Given the description of an element on the screen output the (x, y) to click on. 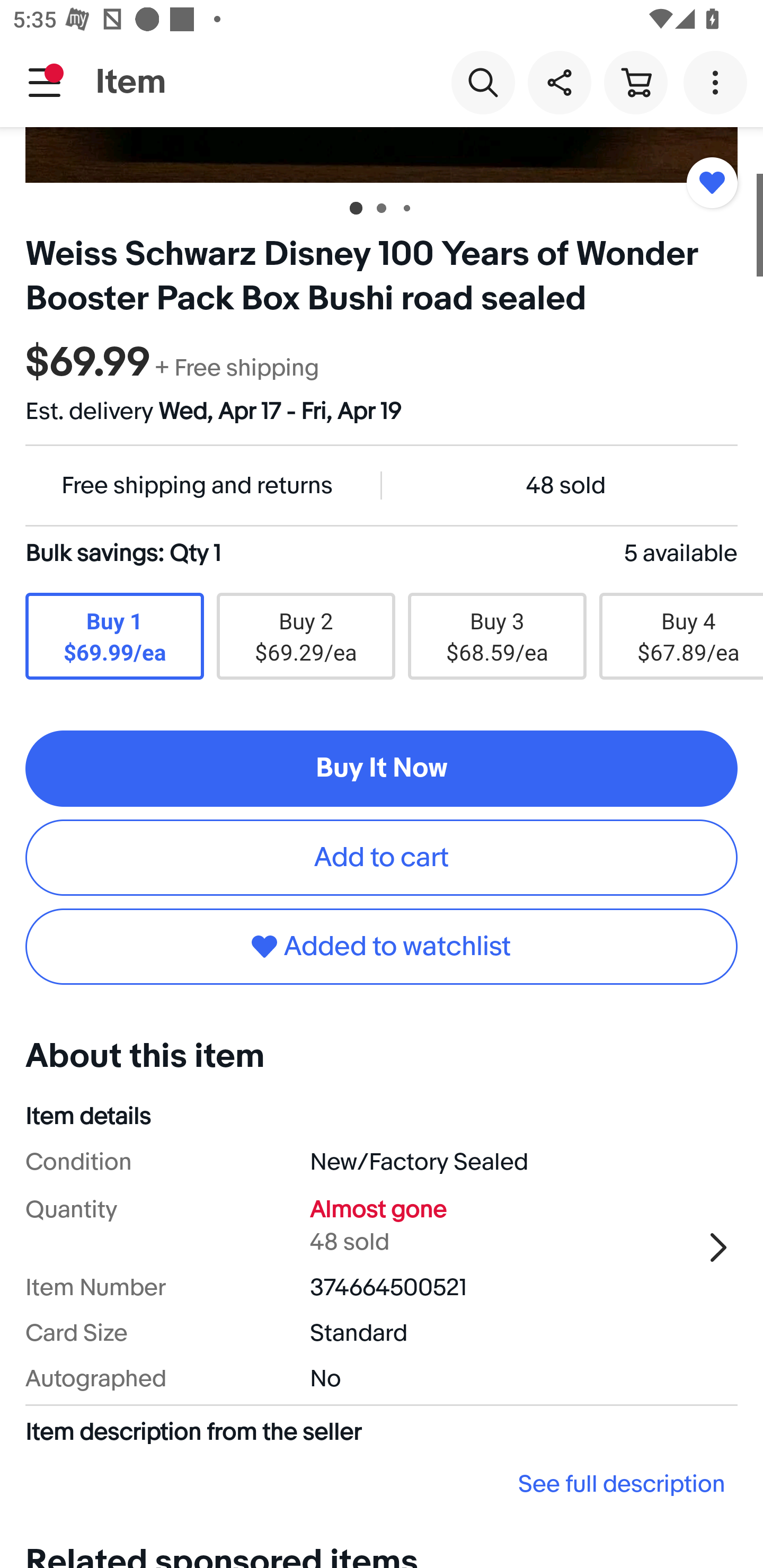
Main navigation, notification is pending, open (44, 82)
Search (482, 81)
Share this item (559, 81)
Cart button shopping cart (635, 81)
More options (718, 81)
Added to watchlist (711, 182)
Buy 1
$69.99/ea (114, 635)
Buy 2
$69.29/ea (305, 635)
Buy 3
$68.59/ea (497, 635)
Buy 4
$67.89/ea (680, 635)
Buy It Now (381, 768)
Add to cart (381, 857)
Added to watchlist (381, 945)
See full description (381, 1483)
